Given the description of an element on the screen output the (x, y) to click on. 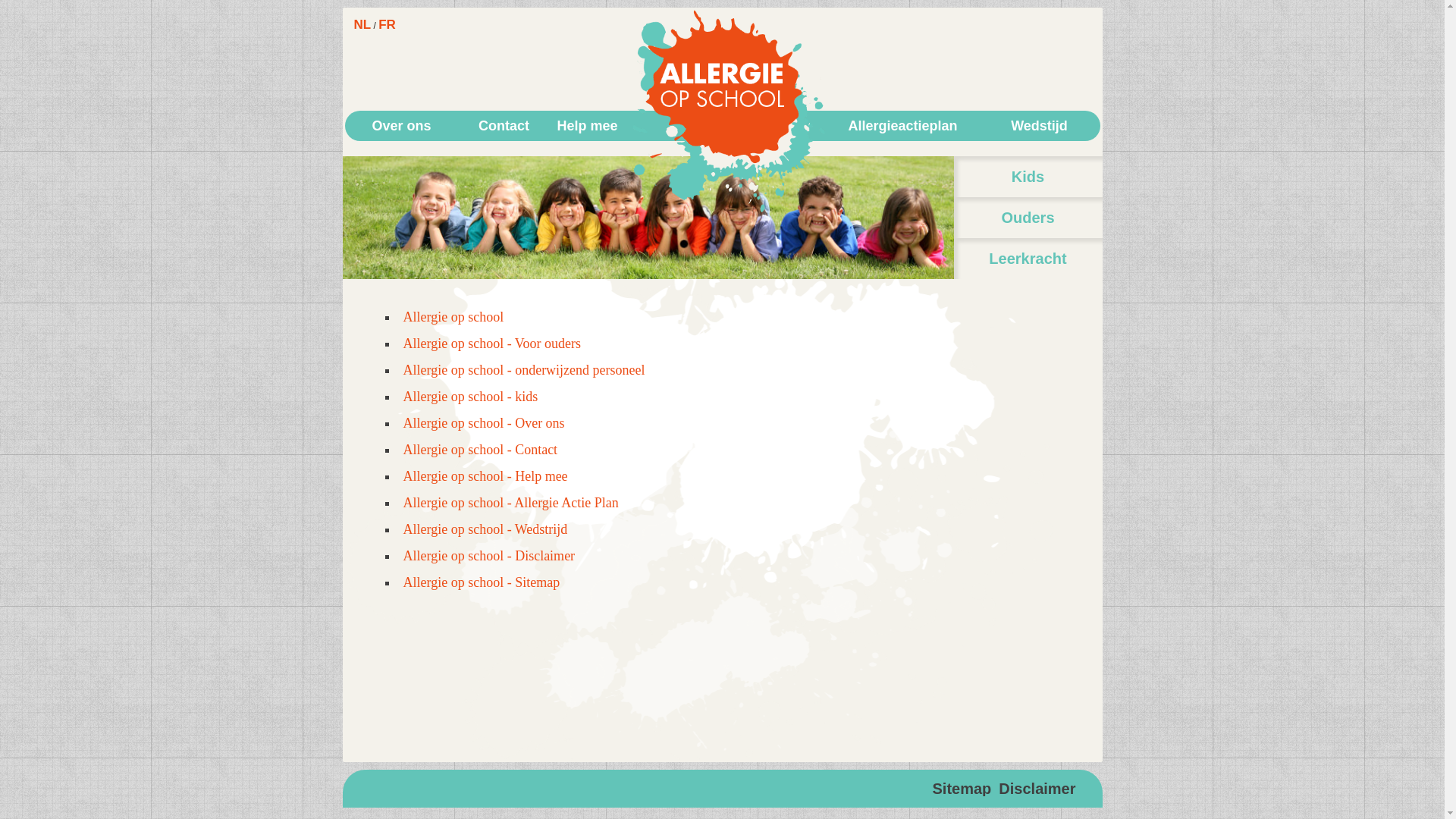
Allergie op school - Contact Element type: text (480, 449)
Sitemap Element type: text (961, 788)
Contact Element type: text (503, 125)
Allergie op school Element type: text (453, 316)
Allergieactieplan Element type: text (902, 125)
Help mee Element type: text (586, 125)
Disclaimer Element type: text (1036, 788)
Allergie op school - Sitemap Element type: text (481, 581)
Kids Element type: text (1027, 176)
Over ons Element type: text (401, 125)
Allergie op school - kids Element type: text (470, 396)
Allergie op school - Help mee Element type: text (485, 475)
Allergie op school - Voor ouders Element type: text (491, 343)
Allergie op school - onderwijzend personeel Element type: text (524, 369)
Allergie op school - Disclaimer Element type: text (489, 555)
Allergie op school - Allergie Actie Plan Element type: text (510, 502)
Wedstijd Element type: text (1038, 125)
Allergie op school - Wedstrijd Element type: text (485, 528)
NL Element type: text (361, 24)
Allergie op school - Over ons Element type: text (483, 422)
Ouders Element type: text (1027, 217)
FR Element type: text (386, 24)
Leerkracht Element type: text (1027, 258)
